Given the description of an element on the screen output the (x, y) to click on. 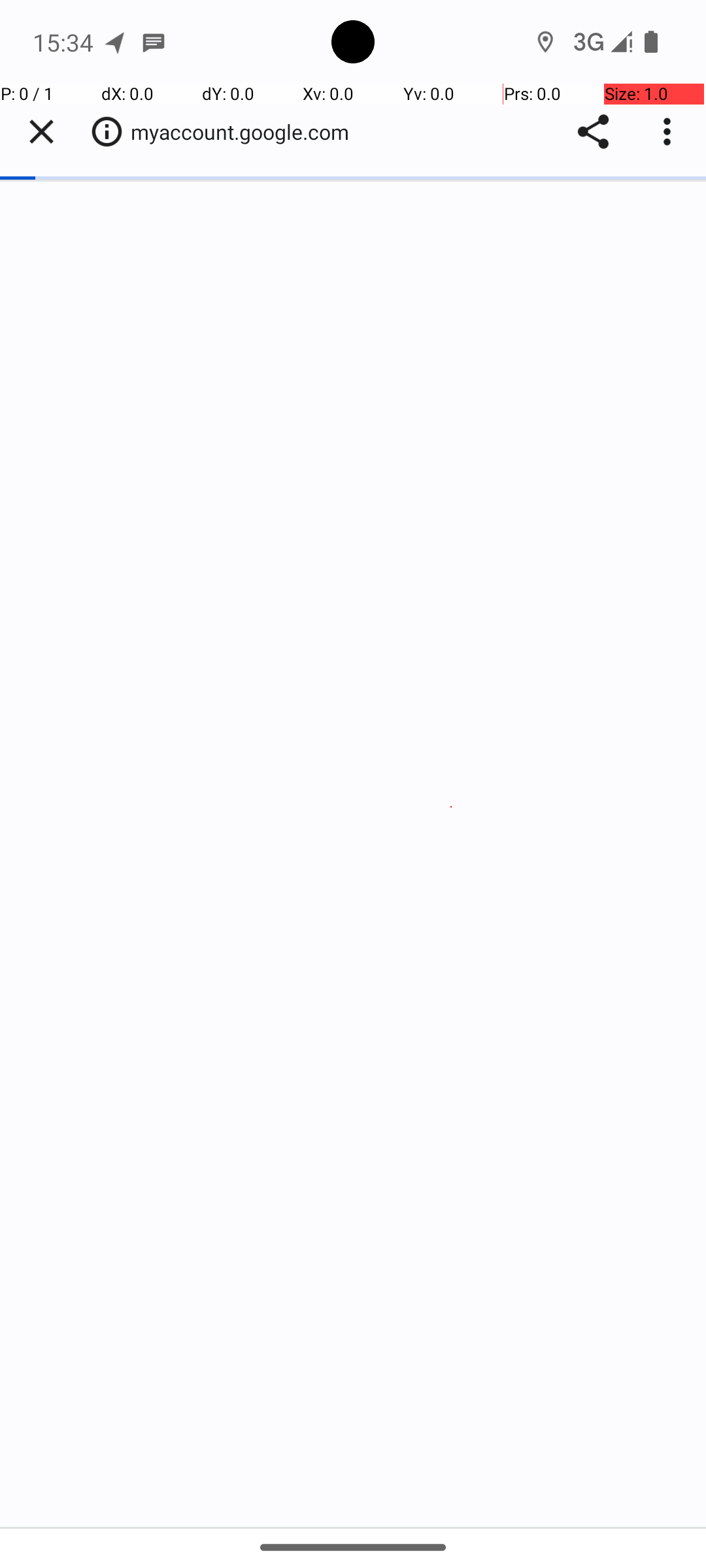
myaccount.google.com Element type: android.widget.TextView (246, 131)
SMS Messenger notification: Noa Mohamed Element type: android.widget.ImageView (153, 41)
